Given the description of an element on the screen output the (x, y) to click on. 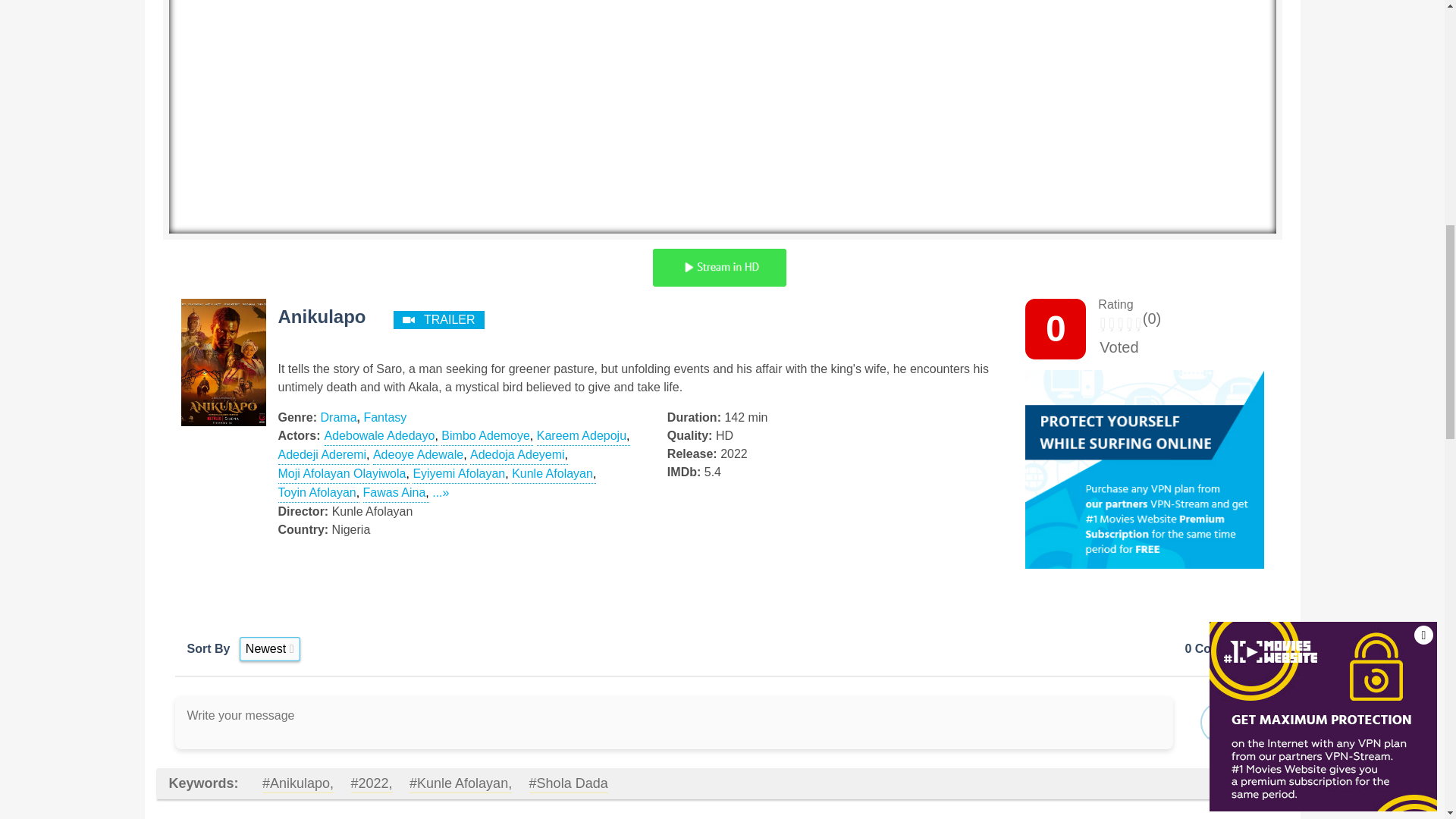
Adebowale Adedayo, (381, 435)
Bimbo Ademoye, (486, 435)
Kareem Adepoju, (583, 435)
Fantasy (384, 417)
Drama (338, 417)
